Given the description of an element on the screen output the (x, y) to click on. 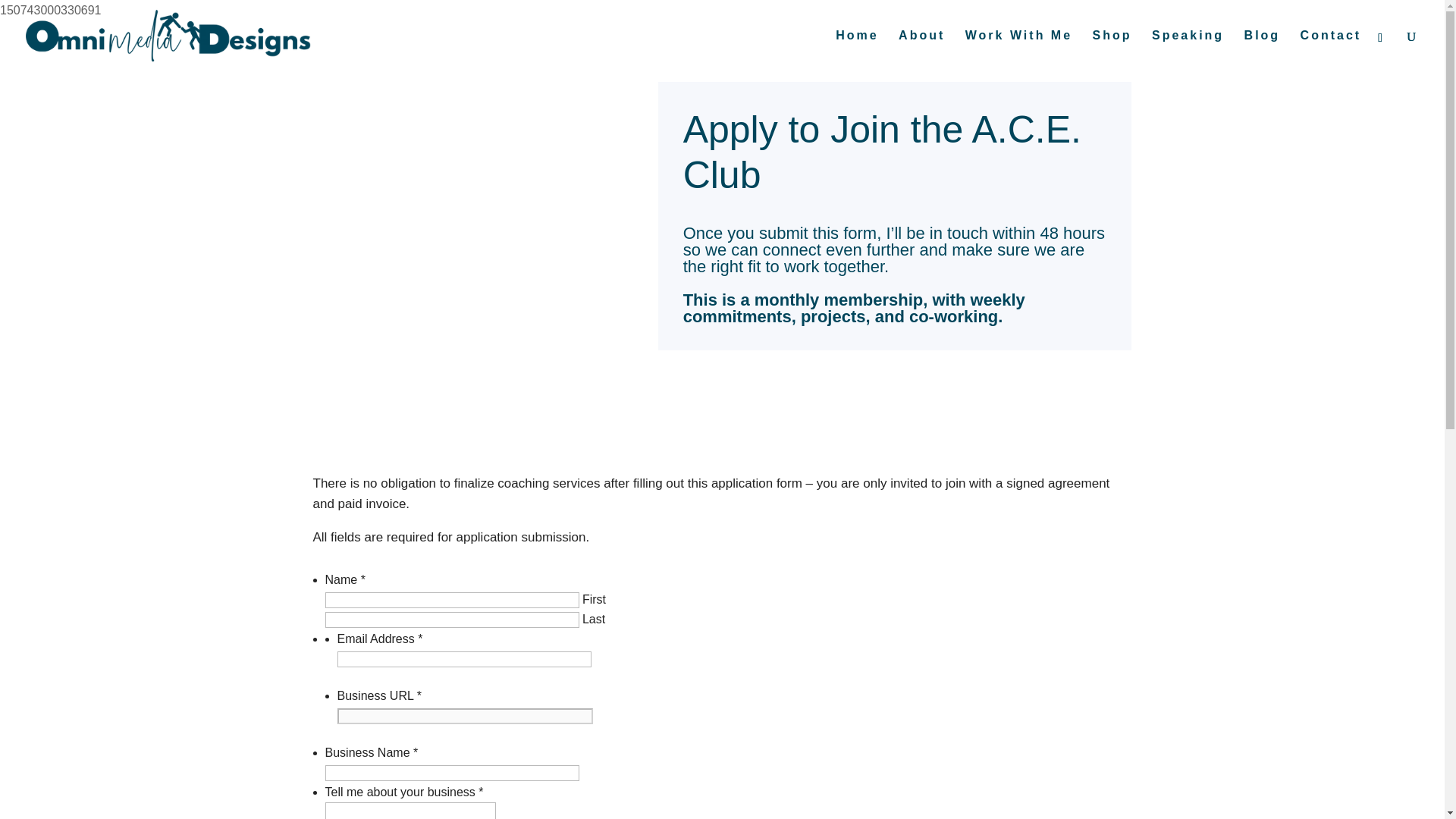
Shop (1112, 50)
Home (856, 50)
Contact (1330, 50)
Blog (1262, 50)
Work With Me (1018, 50)
About (921, 50)
Speaking (1187, 50)
